Given the description of an element on the screen output the (x, y) to click on. 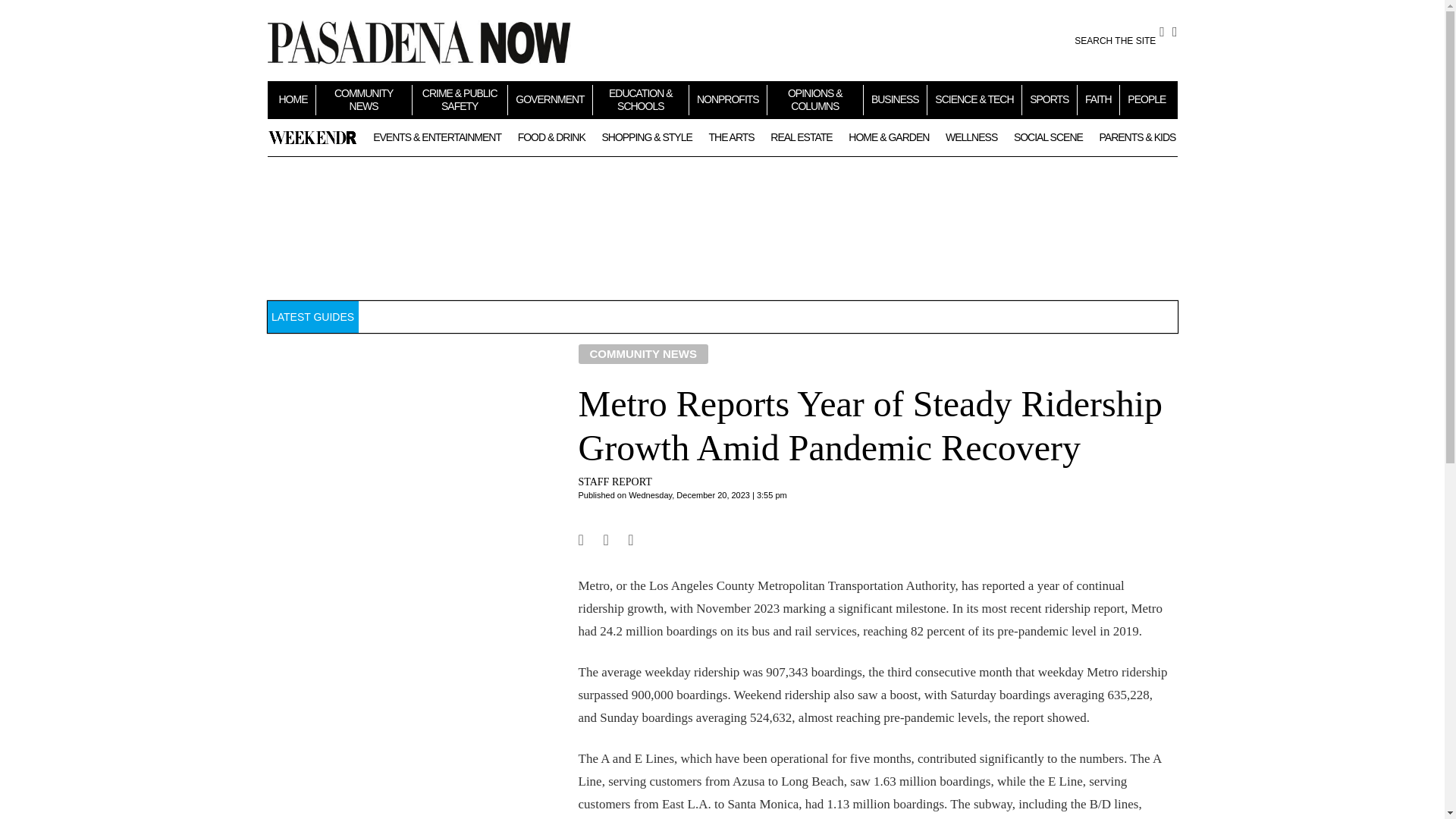
HOME (293, 99)
PEOPLE (1146, 99)
THE ARTS (730, 137)
NONPROFITS (727, 99)
WEEKENDR (312, 137)
FAITH (1098, 99)
REAL ESTATE (800, 137)
SOCIAL SCENE (1048, 137)
COMMUNITY NEWS (363, 98)
